Given the description of an element on the screen output the (x, y) to click on. 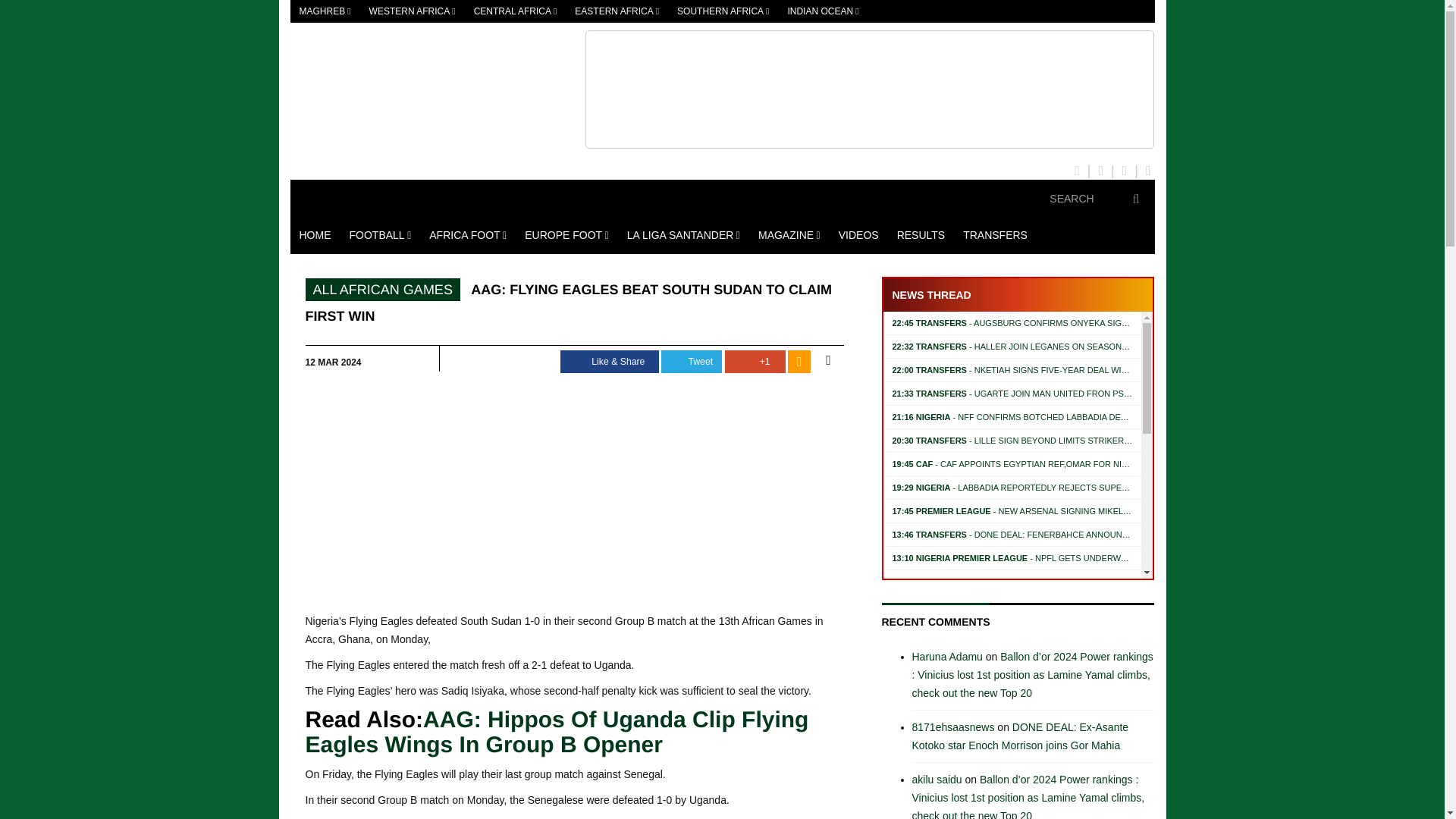
Share on Facebook (609, 361)
Augsburg Confirms Onyeka Signing On Loan From Brentford (1077, 322)
Share on Google Plus (755, 361)
EASTERN AFRICA (617, 11)
MAGHREB (324, 11)
1Xbet (869, 88)
CENTRAL AFRICA (515, 11)
Share on Twitter (691, 361)
Haller Join Leganes On Season- Long Loan (1032, 346)
